Given the description of an element on the screen output the (x, y) to click on. 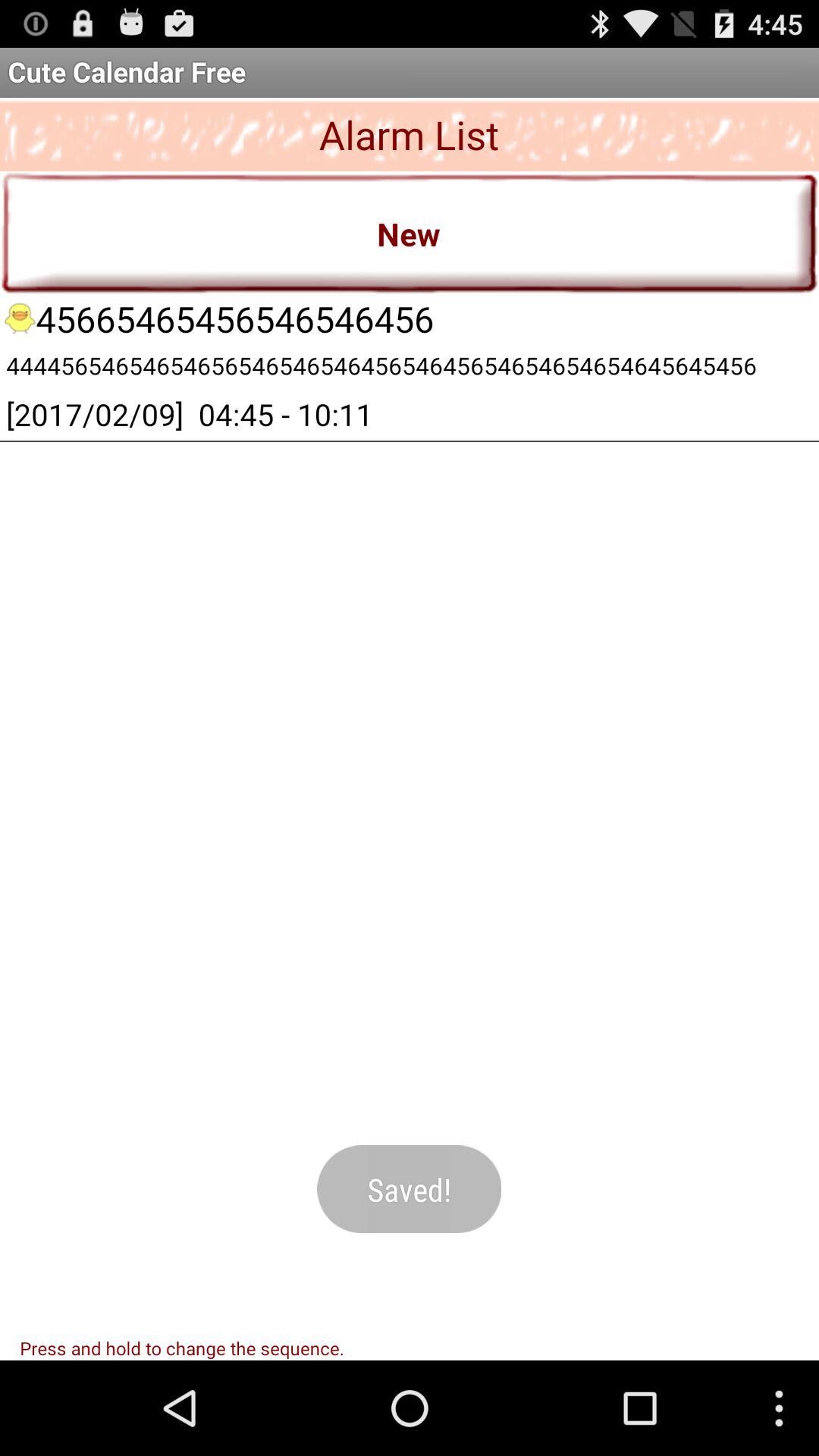
turn on new item (409, 232)
